Given the description of an element on the screen output the (x, y) to click on. 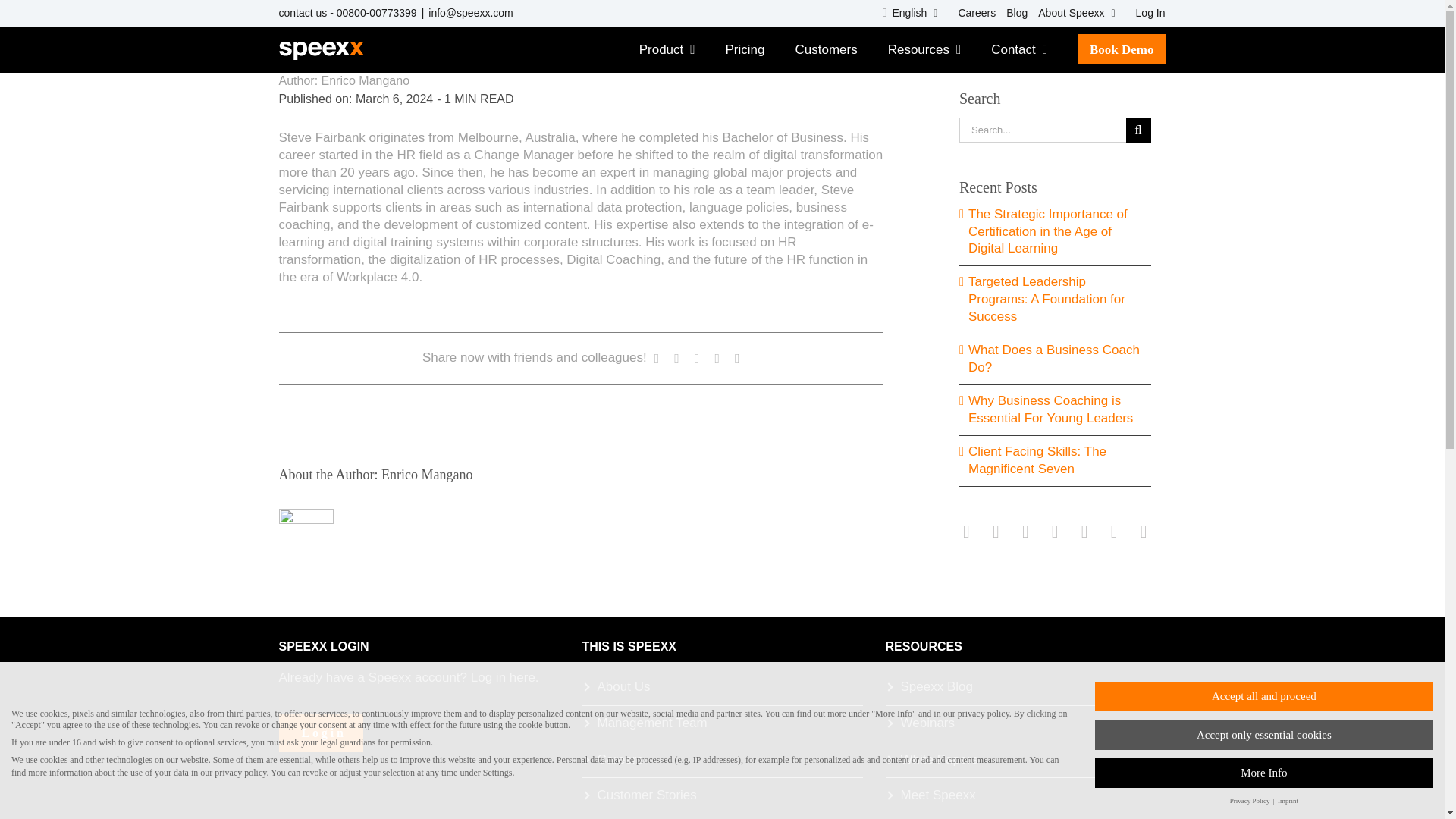
Blog (1011, 13)
second-top-career (971, 13)
second-top-blog (1011, 13)
second-top-login (1145, 13)
About Speexx (1075, 13)
Careers (971, 13)
Log In (1145, 13)
Product (667, 49)
English (909, 13)
00800-00773399 (376, 12)
English (909, 13)
